Given the description of an element on the screen output the (x, y) to click on. 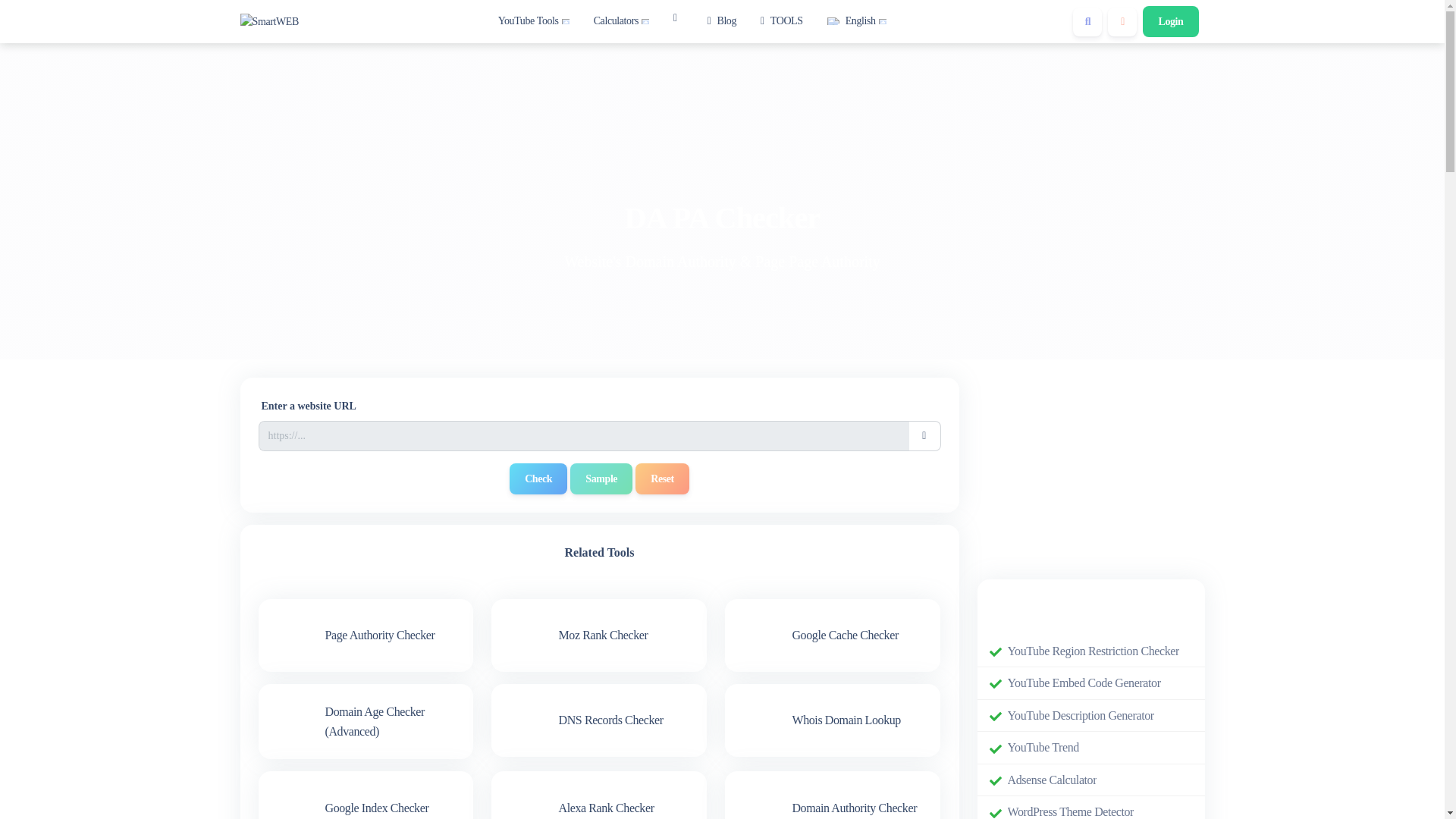
Page Authority Checker (365, 634)
YouTube Description Generator (1080, 715)
Calculators (621, 21)
Reset (661, 478)
English (856, 21)
Google Cache Checker (832, 634)
Login (1170, 20)
SmartWEB (269, 22)
YouTube Region Restriction Checker (1092, 650)
WordPress Theme Detector (1070, 810)
